Given the description of an element on the screen output the (x, y) to click on. 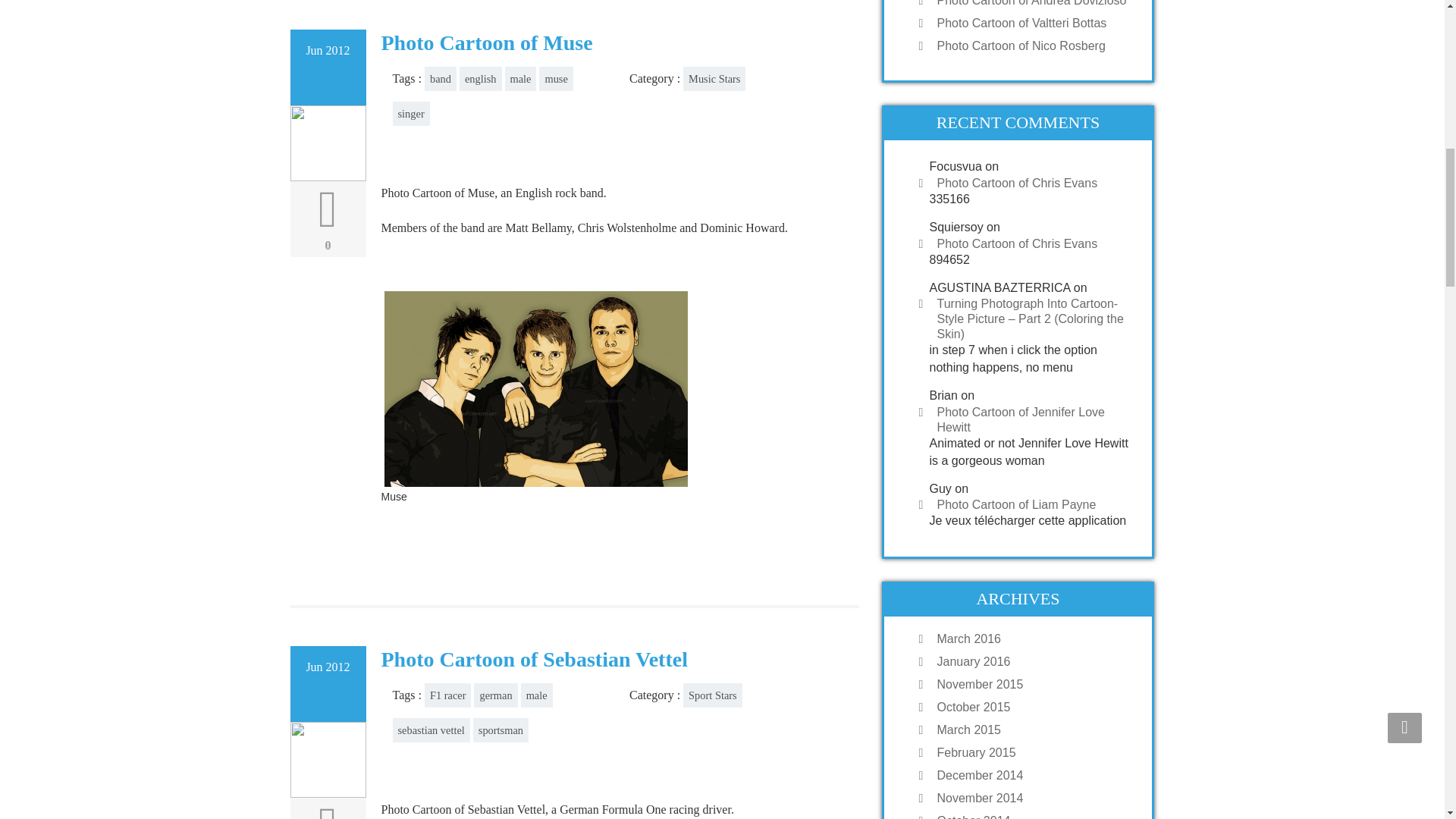
Muse (617, 395)
Photo Cartoon of Sebastian Vettel (533, 658)
english (481, 78)
german (495, 695)
muse (555, 78)
band (441, 78)
cartoon photo of muse by cartoonized.net (535, 388)
male (521, 78)
singer (411, 113)
Music Stars (713, 78)
